Given the description of an element on the screen output the (x, y) to click on. 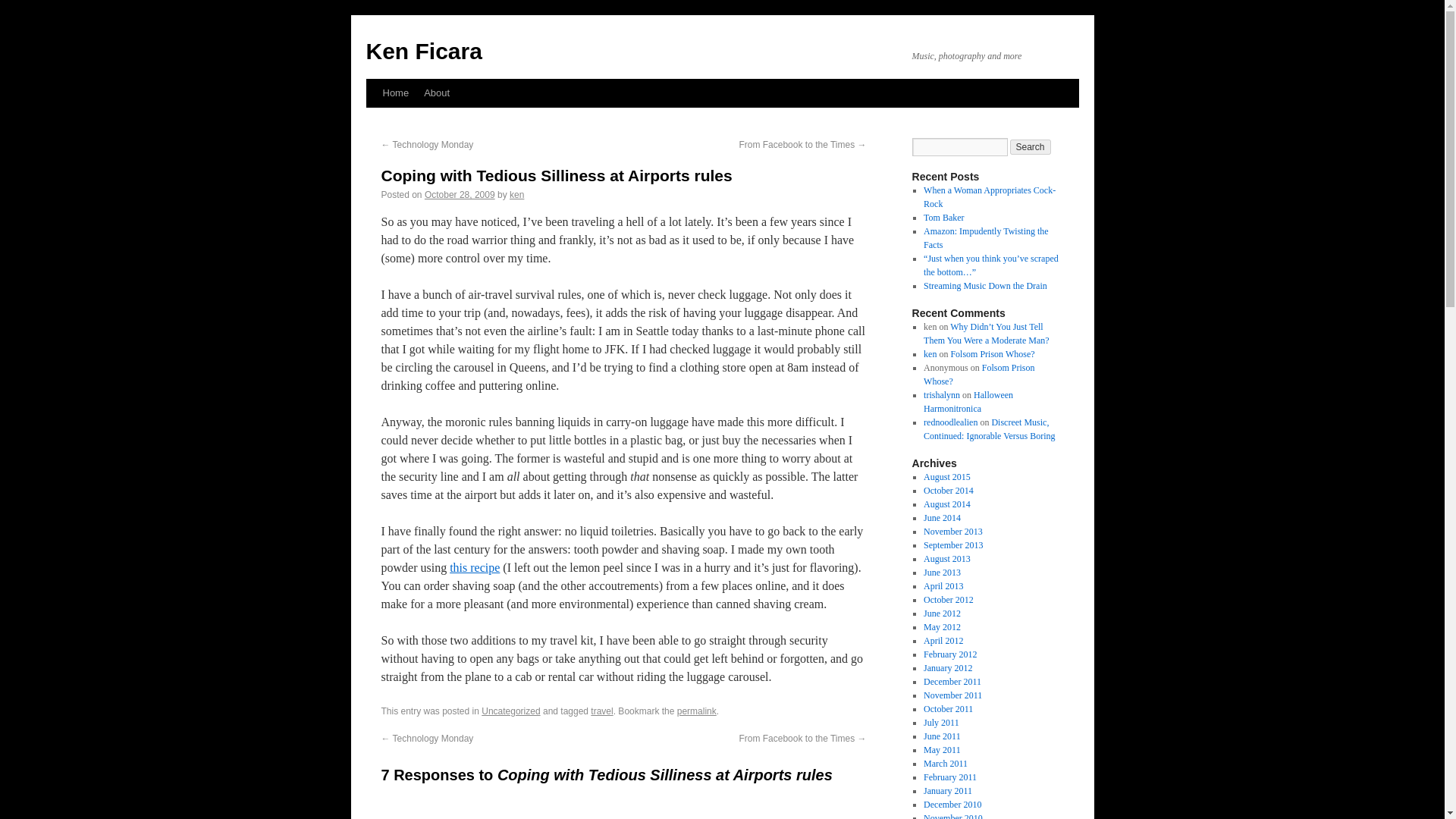
Search (1030, 146)
ken (929, 353)
Tom Baker (943, 217)
permalink (696, 710)
ken (516, 194)
August 2013 (947, 558)
June 2014 (941, 517)
About (436, 92)
Folsom Prison Whose? (978, 374)
August 2015 (947, 476)
travel (601, 710)
Uncategorized (510, 710)
Discreet Music, Continued: Ignorable Versus Boring (988, 428)
rednoodlealien (949, 421)
October 28, 2009 (460, 194)
